Given the description of an element on the screen output the (x, y) to click on. 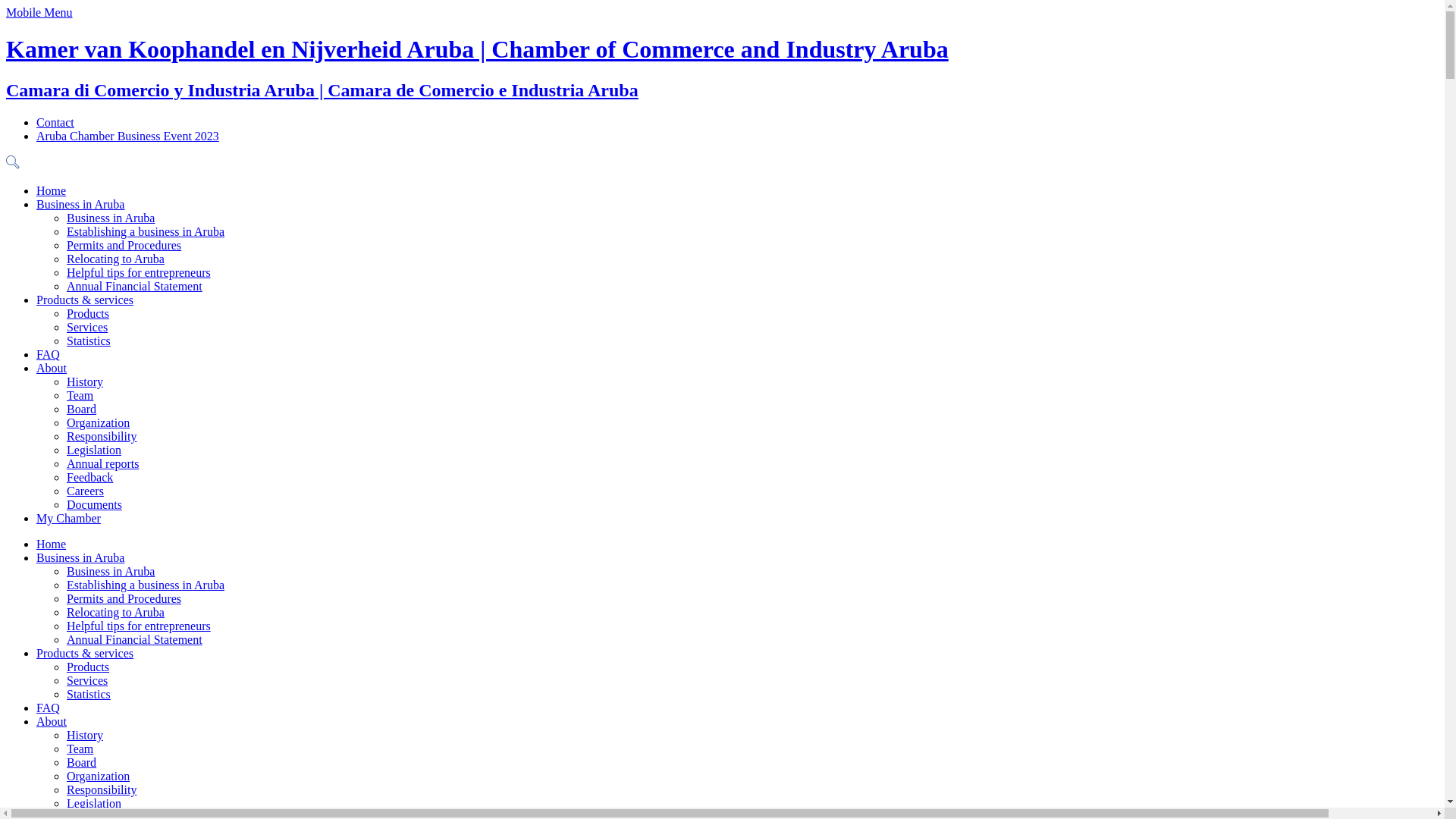
Relocating to Aruba Element type: text (115, 258)
Statistics Element type: text (88, 340)
Products & services Element type: text (84, 299)
Services Element type: text (86, 680)
Business in Aruba Element type: text (80, 557)
Helpful tips for entrepreneurs Element type: text (138, 272)
Board Element type: text (81, 408)
Annual reports Element type: text (102, 463)
Relocating to Aruba Element type: text (115, 611)
Contact Element type: text (55, 122)
Responsibility Element type: text (101, 789)
Board Element type: text (81, 762)
Permits and Procedures Element type: text (123, 244)
Feedback Element type: text (89, 476)
Permits and Procedures Element type: text (123, 598)
Annual Financial Statement Element type: text (134, 639)
Aruba Chamber Business Event 2023 Element type: text (127, 135)
Business in Aruba Element type: text (80, 203)
Statistics Element type: text (88, 693)
My Chamber Element type: text (68, 517)
Establishing a business in Aruba Element type: text (145, 231)
Annual Financial Statement Element type: text (134, 285)
Careers Element type: text (84, 490)
Legislation Element type: text (93, 803)
FAQ Element type: text (47, 707)
Organization Element type: text (97, 422)
Legislation Element type: text (93, 449)
Products Element type: text (87, 313)
Organization Element type: text (97, 775)
Team Element type: text (79, 748)
Mobile Menu Element type: text (39, 12)
Business in Aruba Element type: text (110, 217)
Business in Aruba Element type: text (110, 570)
Products & services Element type: text (84, 652)
Establishing a business in Aruba Element type: text (145, 584)
Responsibility Element type: text (101, 435)
Services Element type: text (86, 326)
About Element type: text (51, 367)
FAQ Element type: text (47, 354)
About Element type: text (51, 721)
Documents Element type: text (94, 504)
Home Element type: text (50, 190)
History Element type: text (84, 381)
Products Element type: text (87, 666)
Home Element type: text (50, 543)
History Element type: text (84, 734)
Helpful tips for entrepreneurs Element type: text (138, 625)
Team Element type: text (79, 395)
